Given the description of an element on the screen output the (x, y) to click on. 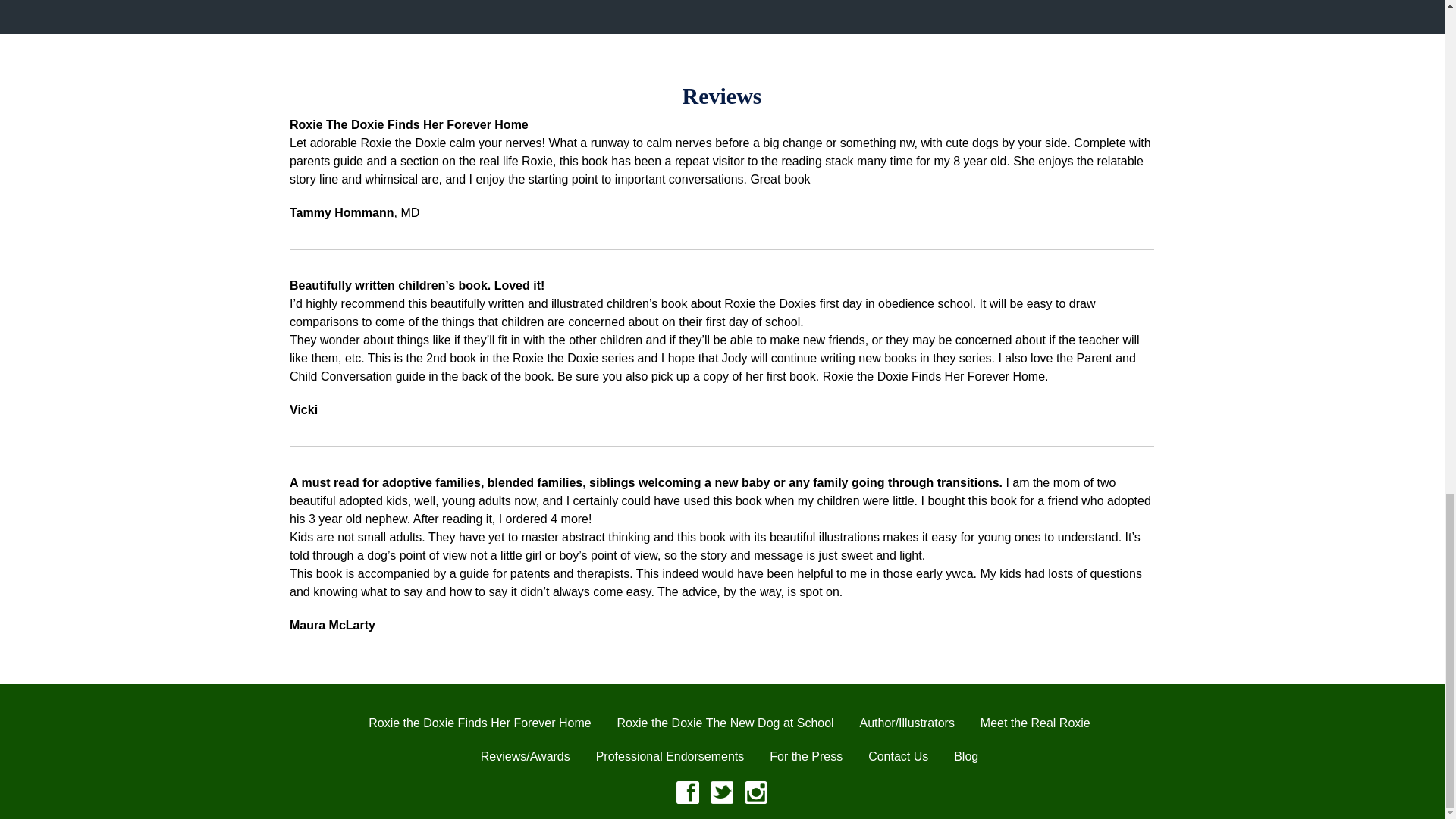
Professional Endorsements (669, 756)
Roxie the Doxie The New Dog at School (725, 722)
Roxie the Doxie Finds Her Forever Home (479, 722)
Contact Us (897, 756)
Meet the Real Roxie (1034, 722)
For the Press (806, 756)
